Given the description of an element on the screen output the (x, y) to click on. 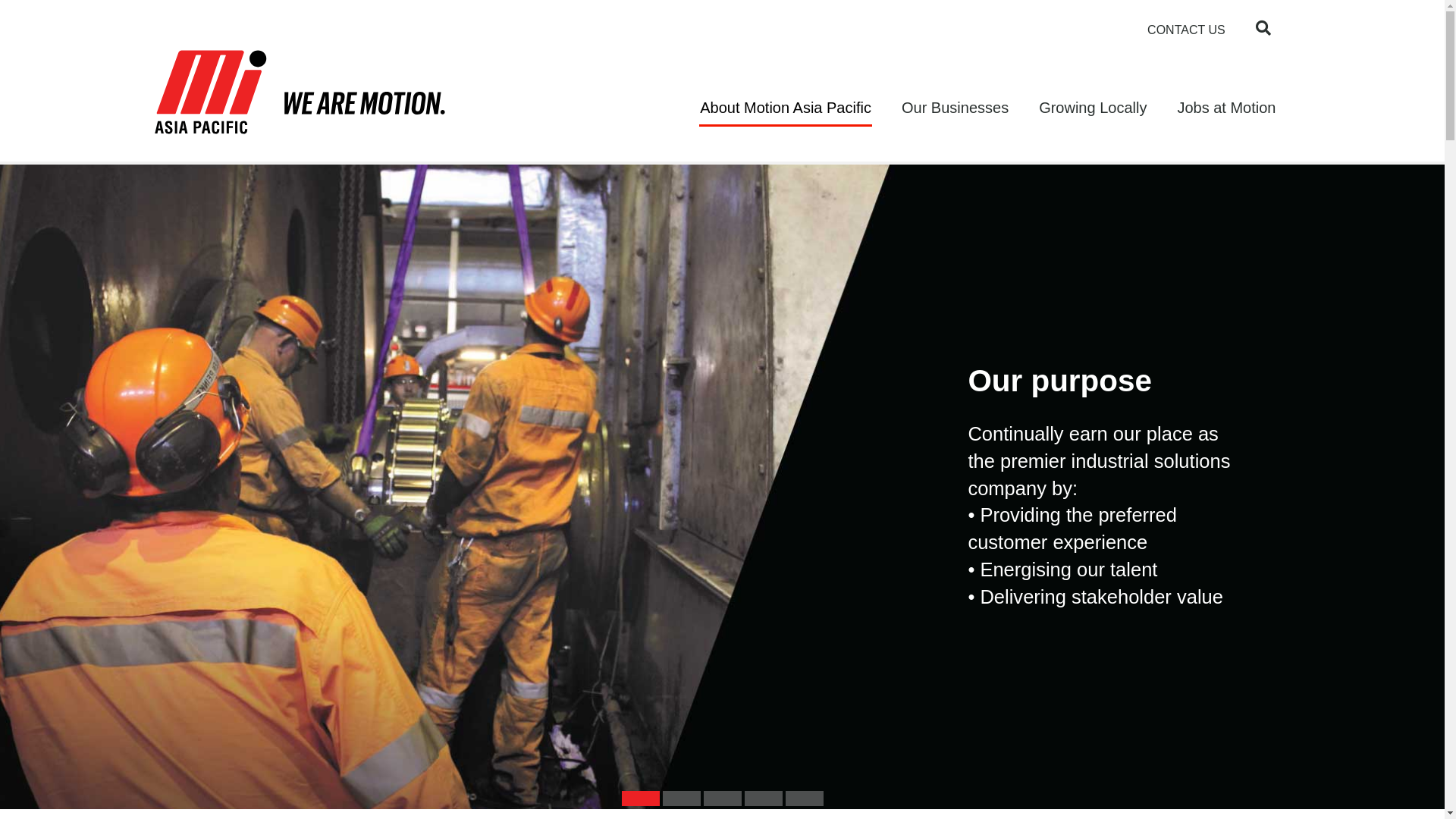
Growing Locally Element type: text (1092, 107)
Our Businesses Element type: text (954, 107)
CONTACT US Element type: text (1186, 30)
Jobs at Motion Element type: text (1225, 107)
About Motion Asia Pacific Element type: text (785, 107)
